Given the description of an element on the screen output the (x, y) to click on. 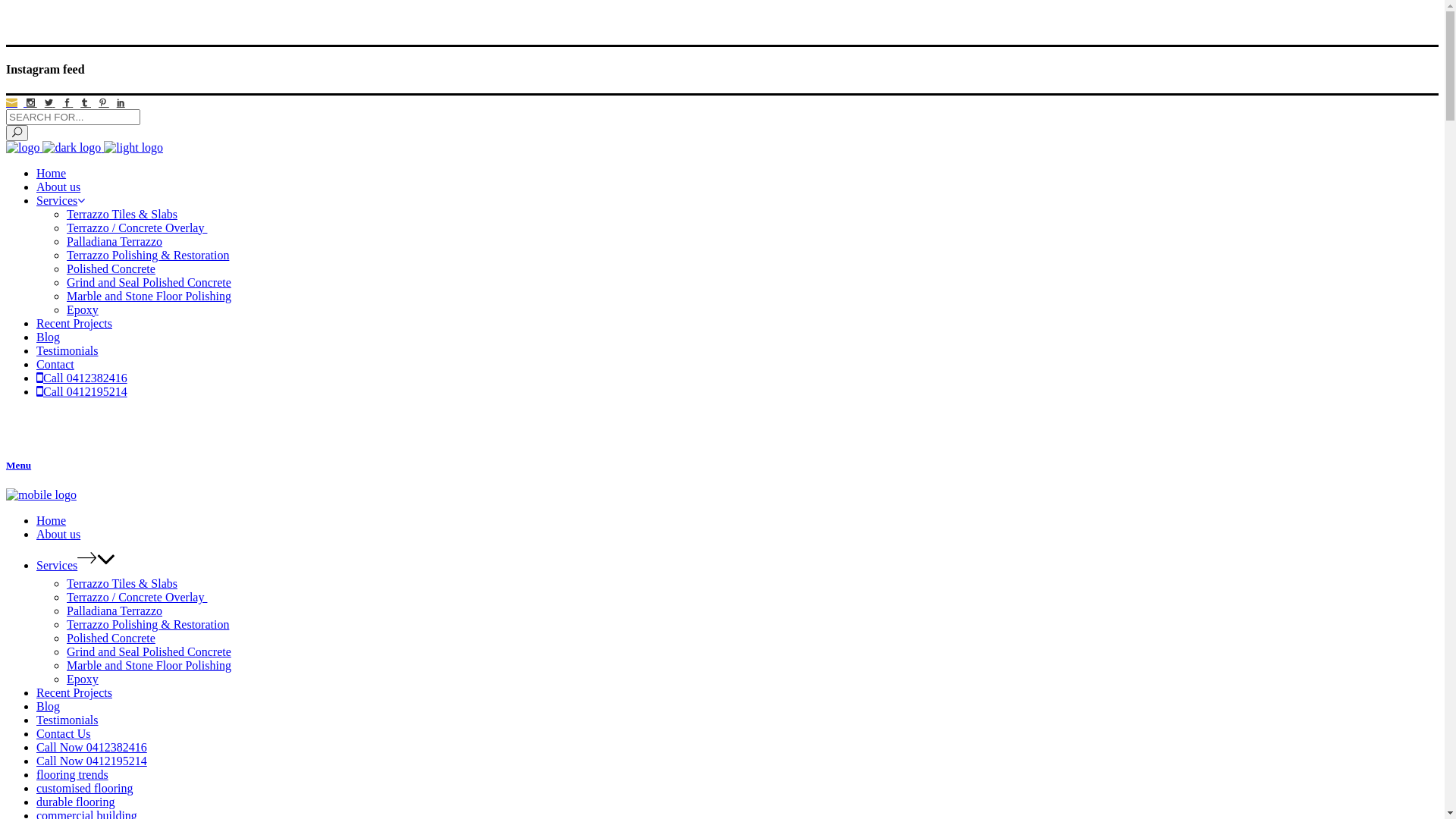
Home Element type: text (50, 520)
Services Element type: text (56, 564)
Blog Element type: text (47, 705)
Terrazzo Polishing & Restoration Element type: text (147, 624)
Testimonials Element type: text (67, 719)
Call Now 0412195214 Element type: text (91, 760)
Grind and Seal Polished Concrete Element type: text (148, 651)
customised flooring Element type: text (84, 787)
About us Element type: text (58, 533)
Terrazzo Polishing & Restoration Element type: text (147, 254)
Epoxy Element type: text (82, 678)
durable flooring Element type: text (75, 801)
Palladiana Terrazzo Element type: text (114, 241)
Marble and Stone Floor Polishing Element type: text (148, 664)
Polished Concrete Element type: text (110, 268)
Marble and Stone Floor Polishing Element type: text (148, 295)
Polished Concrete Element type: text (110, 637)
Call 0412195214 Element type: text (81, 391)
About us Element type: text (58, 186)
Palladiana Terrazzo Element type: text (114, 610)
Blog Element type: text (47, 336)
Recent Projects Element type: text (74, 322)
Grind and Seal Polished Concrete Element type: text (148, 282)
Terrazzo Tiles & Slabs Element type: text (121, 583)
Services Element type: text (60, 200)
flooring trends Element type: text (72, 774)
Contact Element type: text (55, 363)
Recent Projects Element type: text (74, 692)
Home Element type: text (50, 172)
Contact Us Element type: text (63, 733)
Terrazzo / Concrete Overlay  Element type: text (136, 596)
Call 0412382416 Element type: text (81, 377)
Terrazzo / Concrete Overlay  Element type: text (136, 227)
Terrazzo Tiles & Slabs Element type: text (121, 213)
Menu Element type: text (722, 465)
Testimonials Element type: text (67, 350)
Call Now 0412382416 Element type: text (91, 746)
Epoxy Element type: text (82, 309)
